Given the description of an element on the screen output the (x, y) to click on. 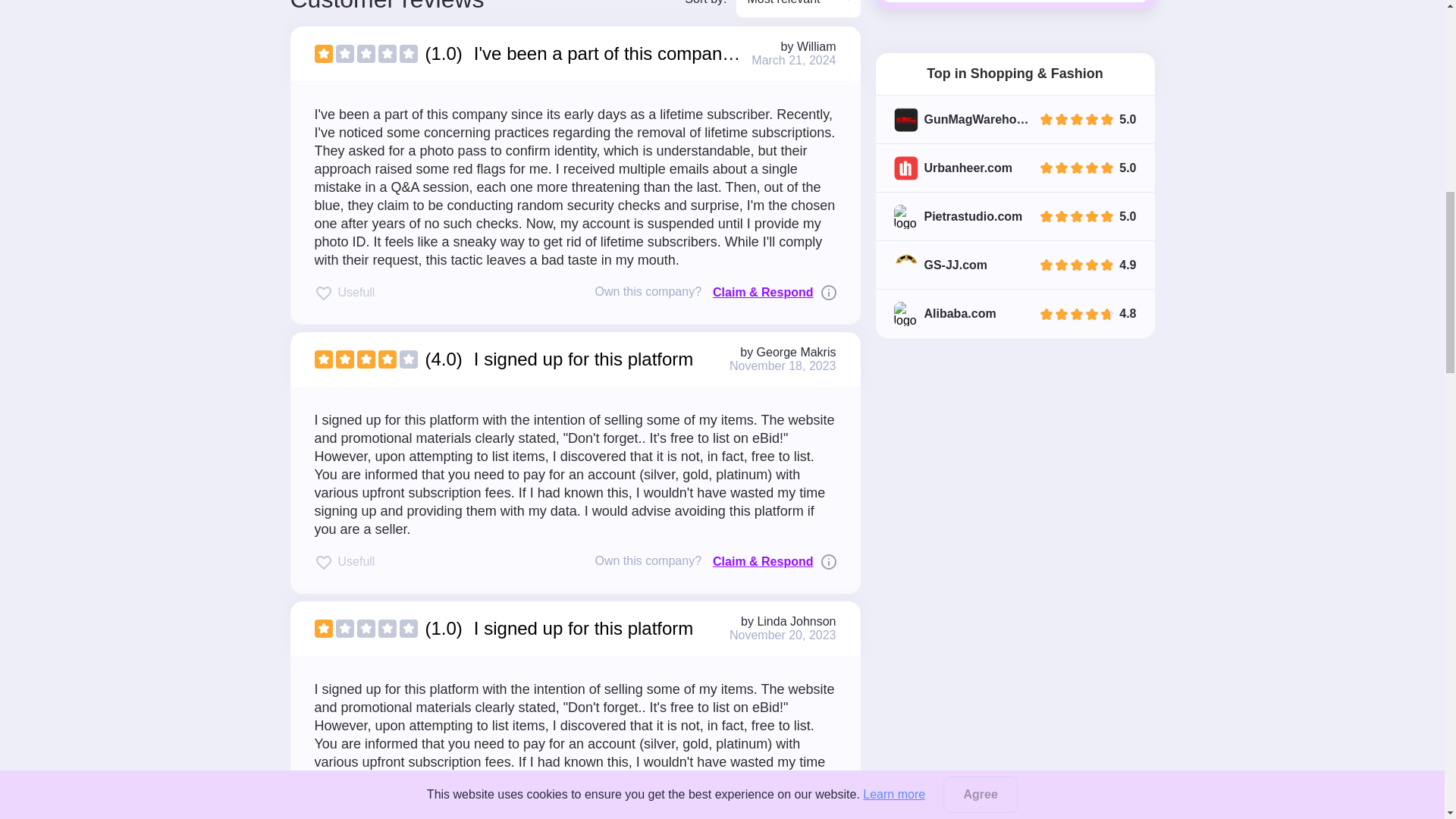
Pietrastudio.com (972, 181)
GS-JJ.com (955, 229)
Most relevant (797, 8)
Usefull (344, 292)
Alibaba.com (959, 278)
Urbanheer.com (967, 132)
GunMagWarehouse.com (977, 83)
